Given the description of an element on the screen output the (x, y) to click on. 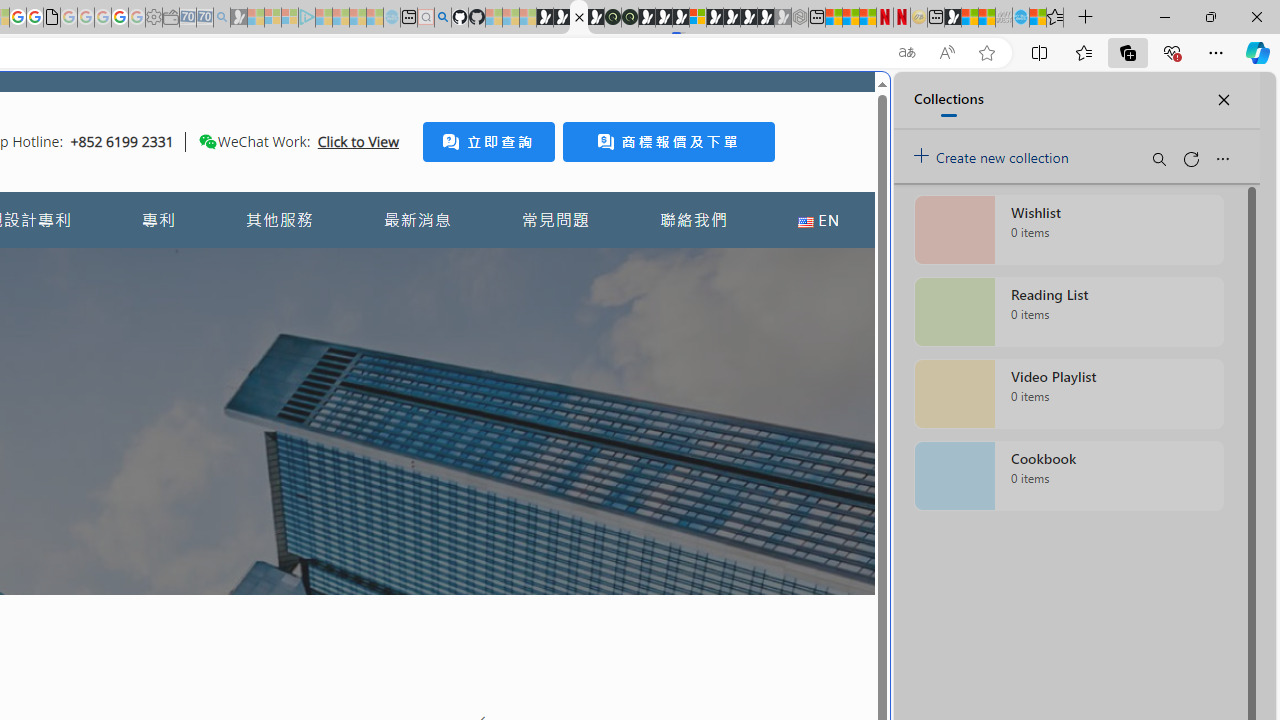
Play Zoo Boom in your browser | Games from Microsoft Start (561, 17)
github - Search (442, 17)
Frequently visited (418, 265)
